Given the description of an element on the screen output the (x, y) to click on. 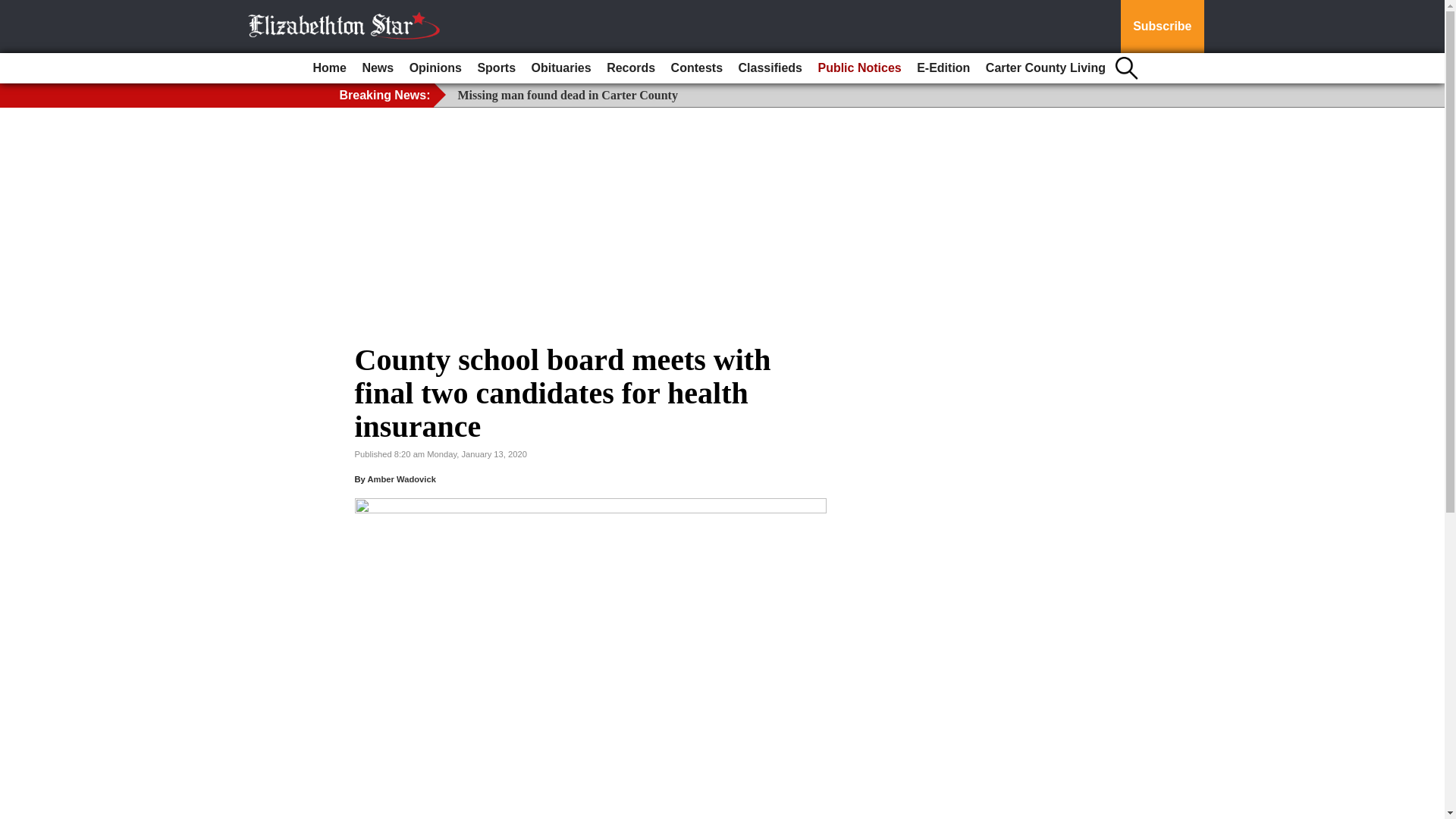
Carter County Living (1045, 68)
Sports (495, 68)
Go (13, 9)
Missing man found dead in Carter County (568, 94)
Obituaries (560, 68)
Opinions (435, 68)
Classifieds (770, 68)
E-Edition (943, 68)
Contests (697, 68)
Home (328, 68)
News (376, 68)
Missing man found dead in Carter County (568, 94)
Subscribe (1162, 26)
Public Notices (858, 68)
Amber Wadovick (400, 479)
